Given the description of an element on the screen output the (x, y) to click on. 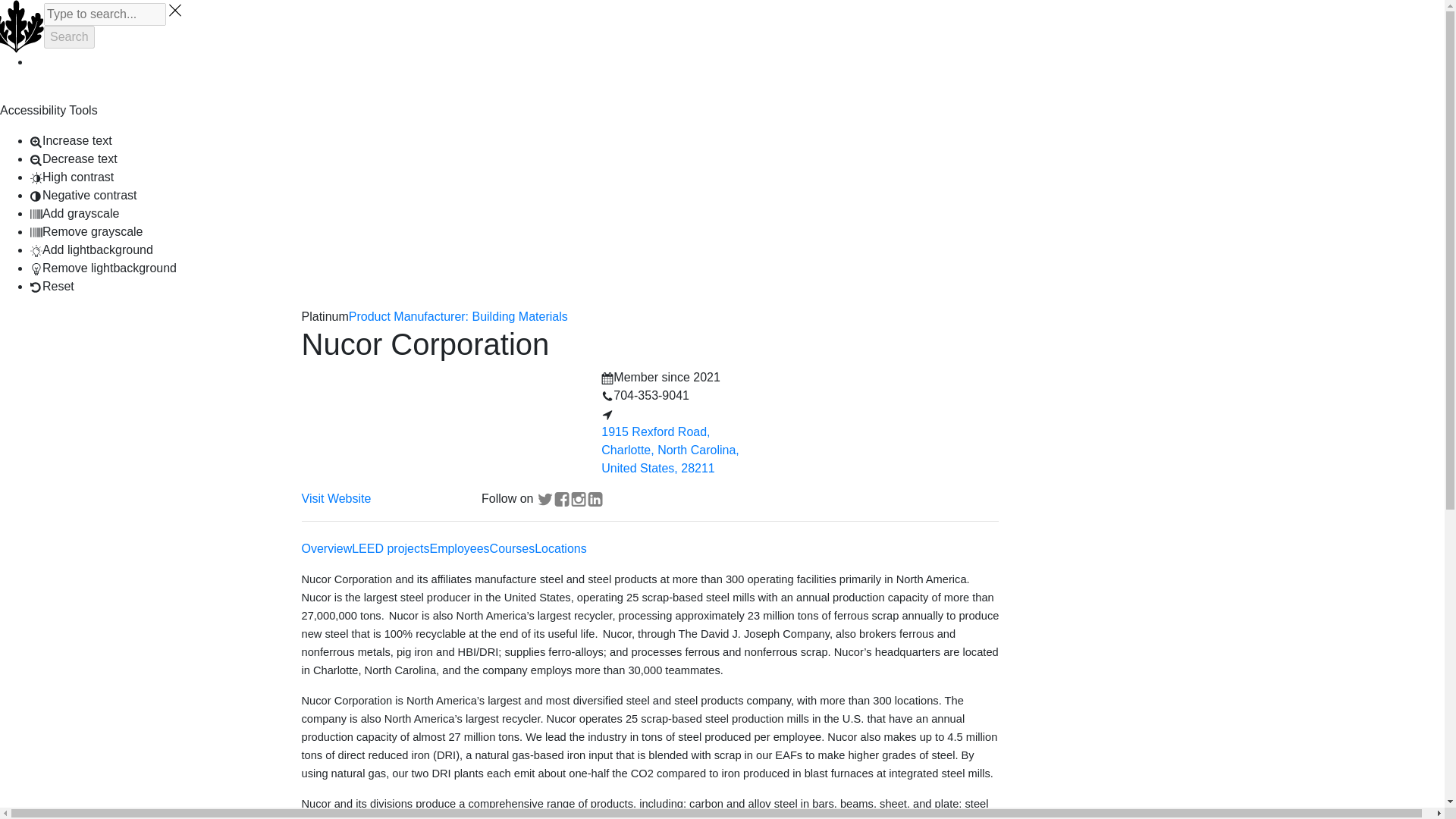
Product Manufacturer: Building Materials (458, 316)
Search (68, 36)
Overview (326, 548)
Visit Website (336, 498)
Courses (512, 548)
Employees (459, 548)
LEED projects (390, 548)
Locations (560, 548)
Search (68, 36)
